Given the description of an element on the screen output the (x, y) to click on. 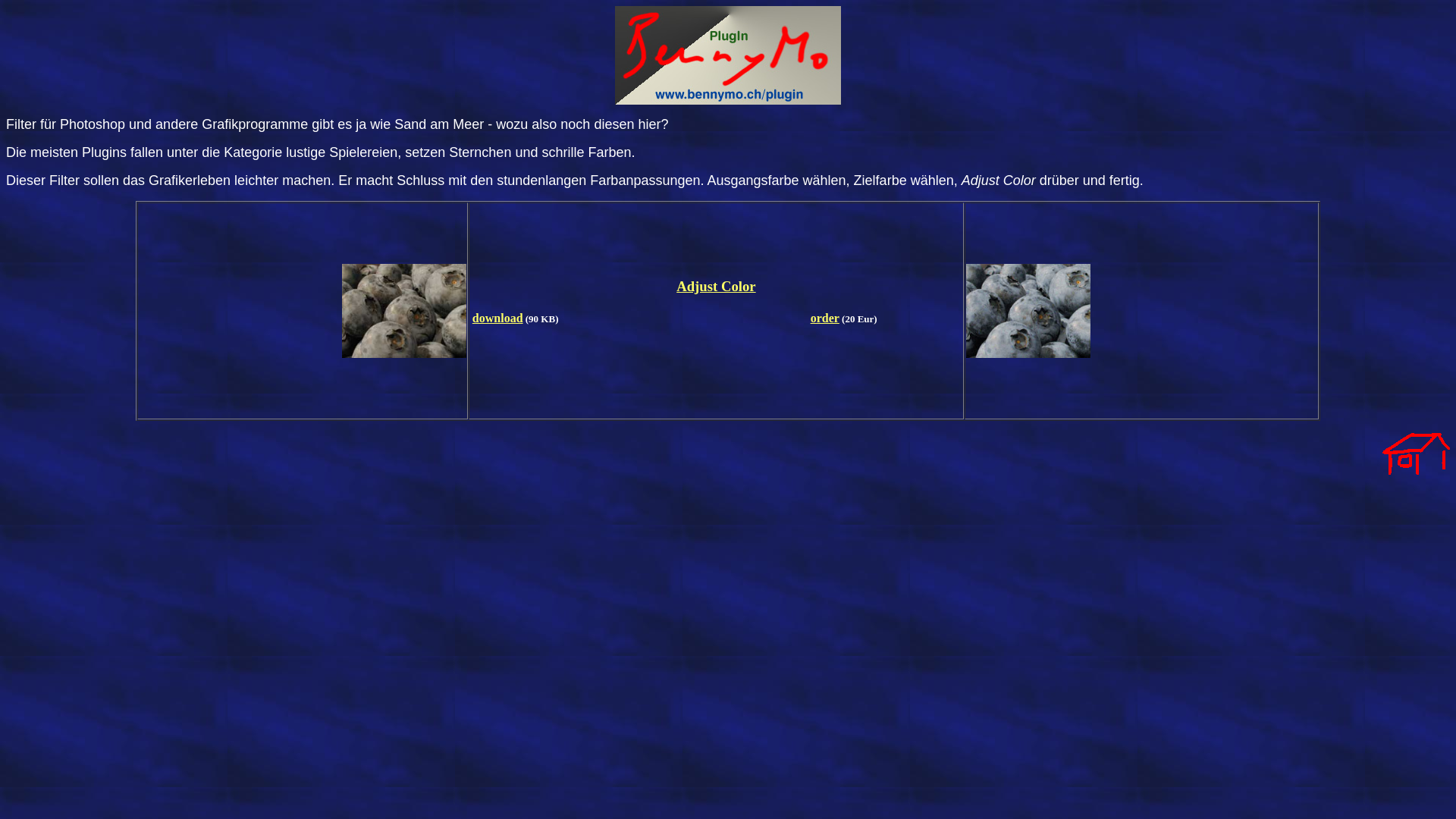
download Element type: text (497, 317)
order Element type: text (824, 317)
Adjust Color Element type: text (715, 286)
